Given the description of an element on the screen output the (x, y) to click on. 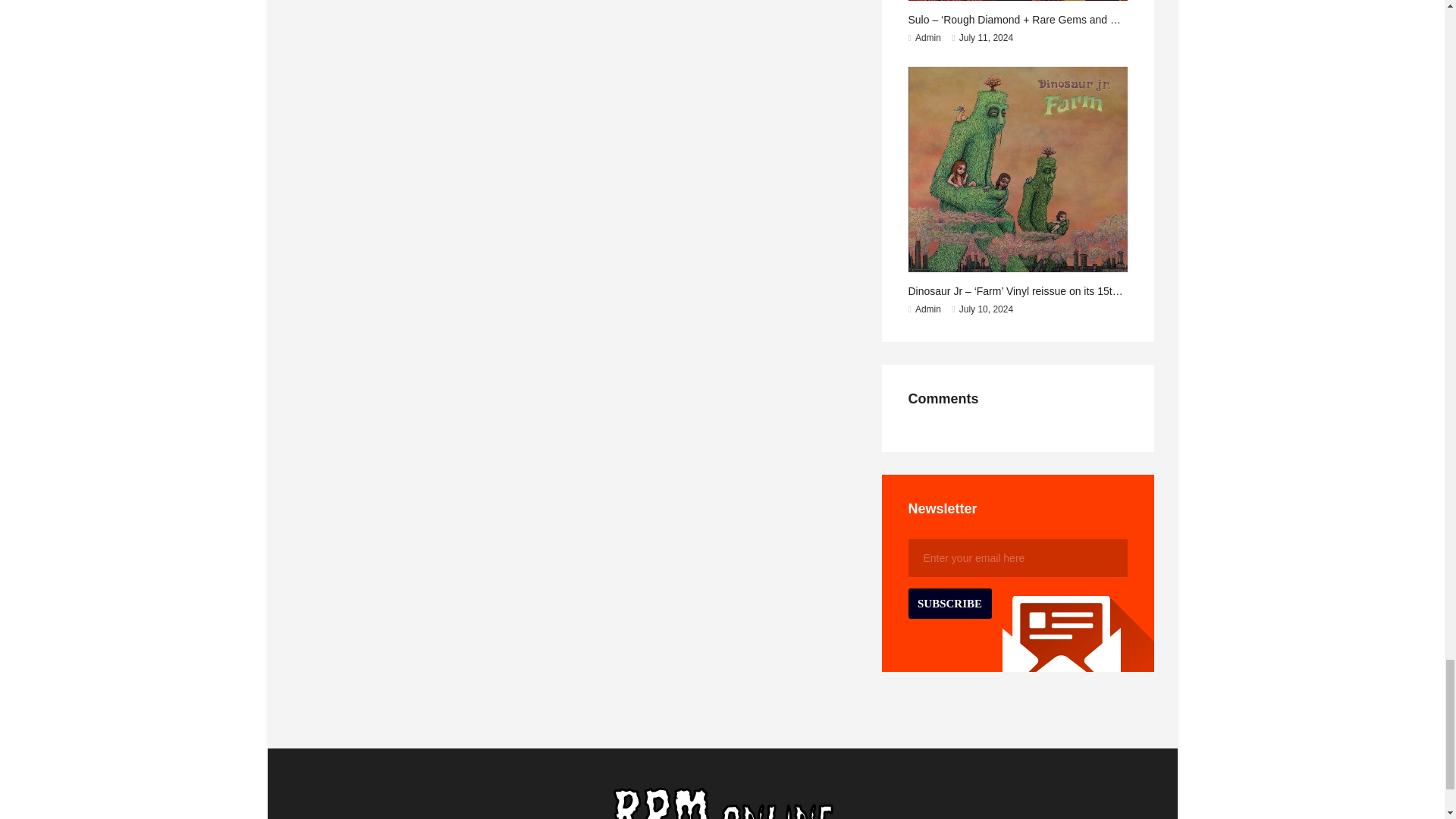
Subscribe (949, 603)
